Given the description of an element on the screen output the (x, y) to click on. 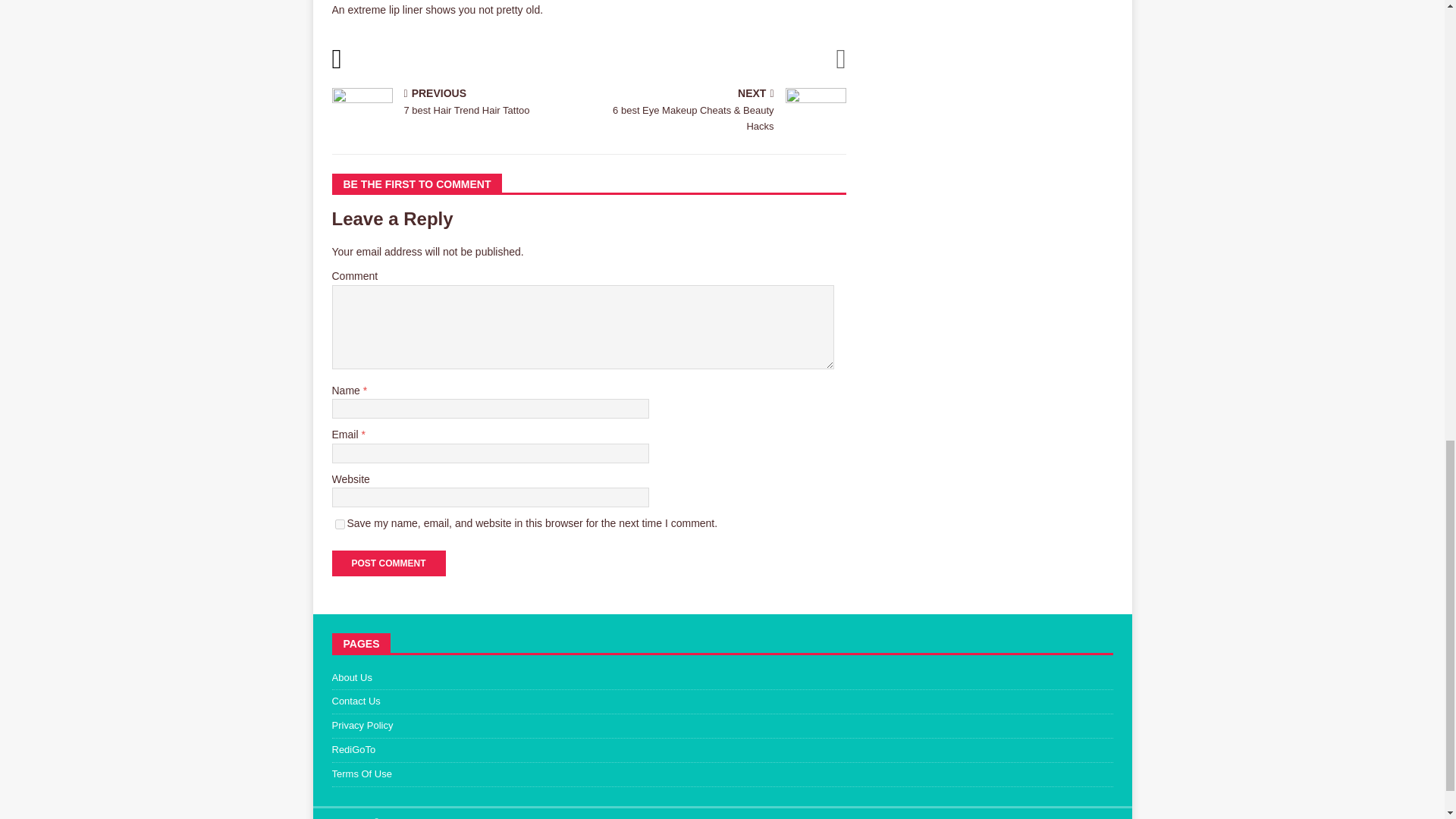
About Us (722, 680)
yes (457, 102)
Terms Of Use (339, 524)
Contact Us (722, 774)
Privacy Policy (722, 702)
Post Comment (722, 726)
Post Comment (388, 563)
RediGoTo (388, 563)
